Given the description of an element on the screen output the (x, y) to click on. 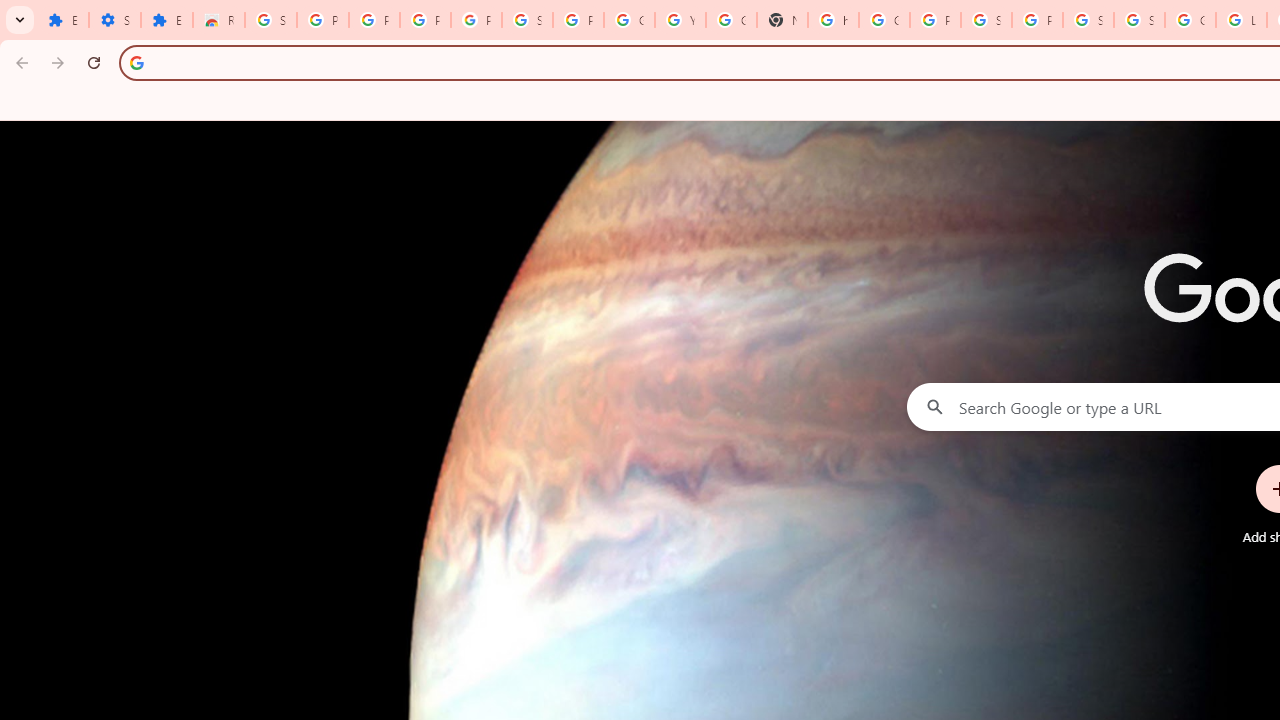
Sign in - Google Accounts (526, 20)
Google Account (629, 20)
Extensions (166, 20)
Sign in - Google Accounts (1087, 20)
Sign in - Google Accounts (986, 20)
Sign in - Google Accounts (1138, 20)
Search icon (136, 62)
YouTube (680, 20)
New Tab (781, 20)
Extensions (63, 20)
